Given the description of an element on the screen output the (x, y) to click on. 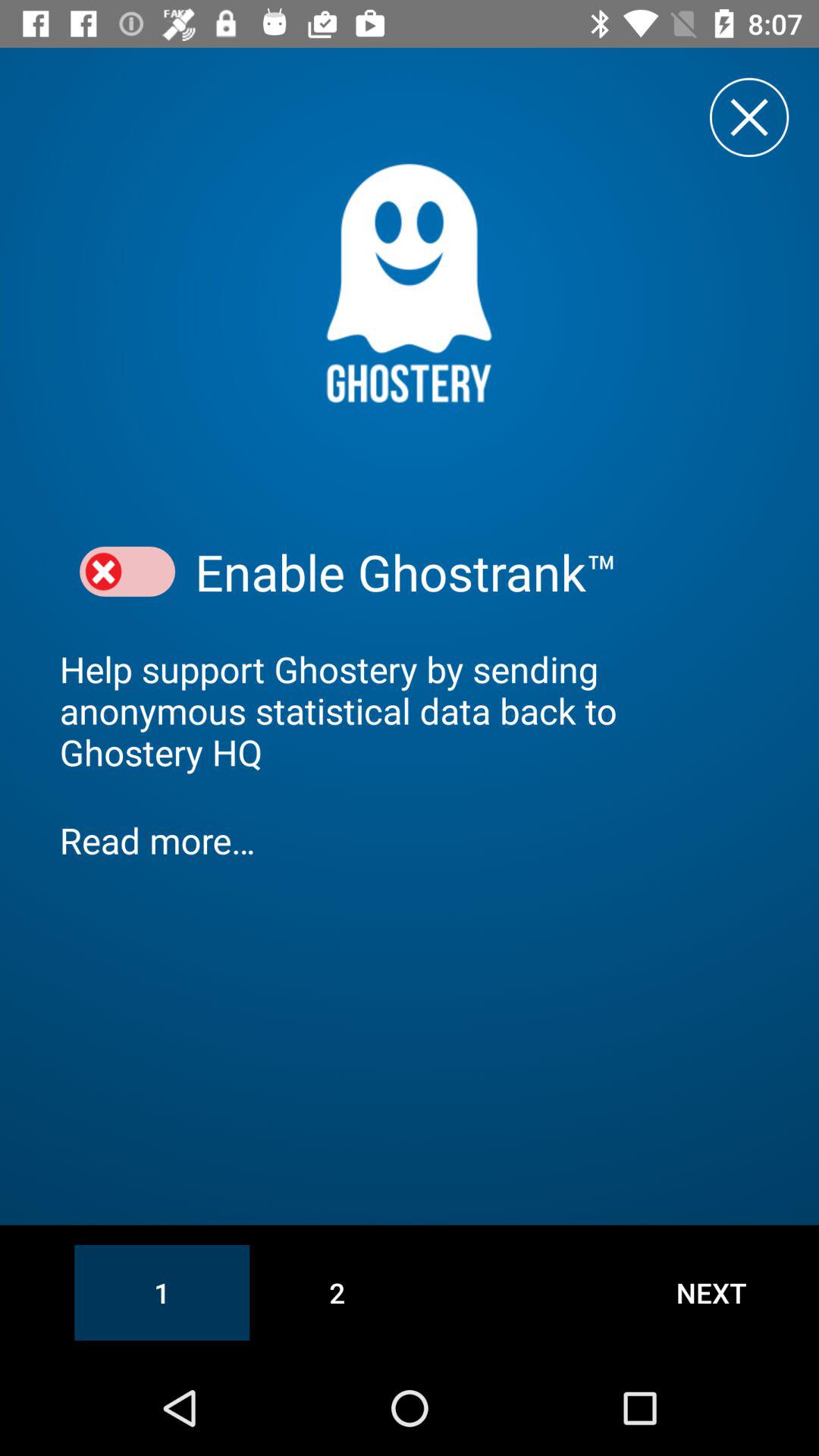
disable/enable button (127, 571)
